Given the description of an element on the screen output the (x, y) to click on. 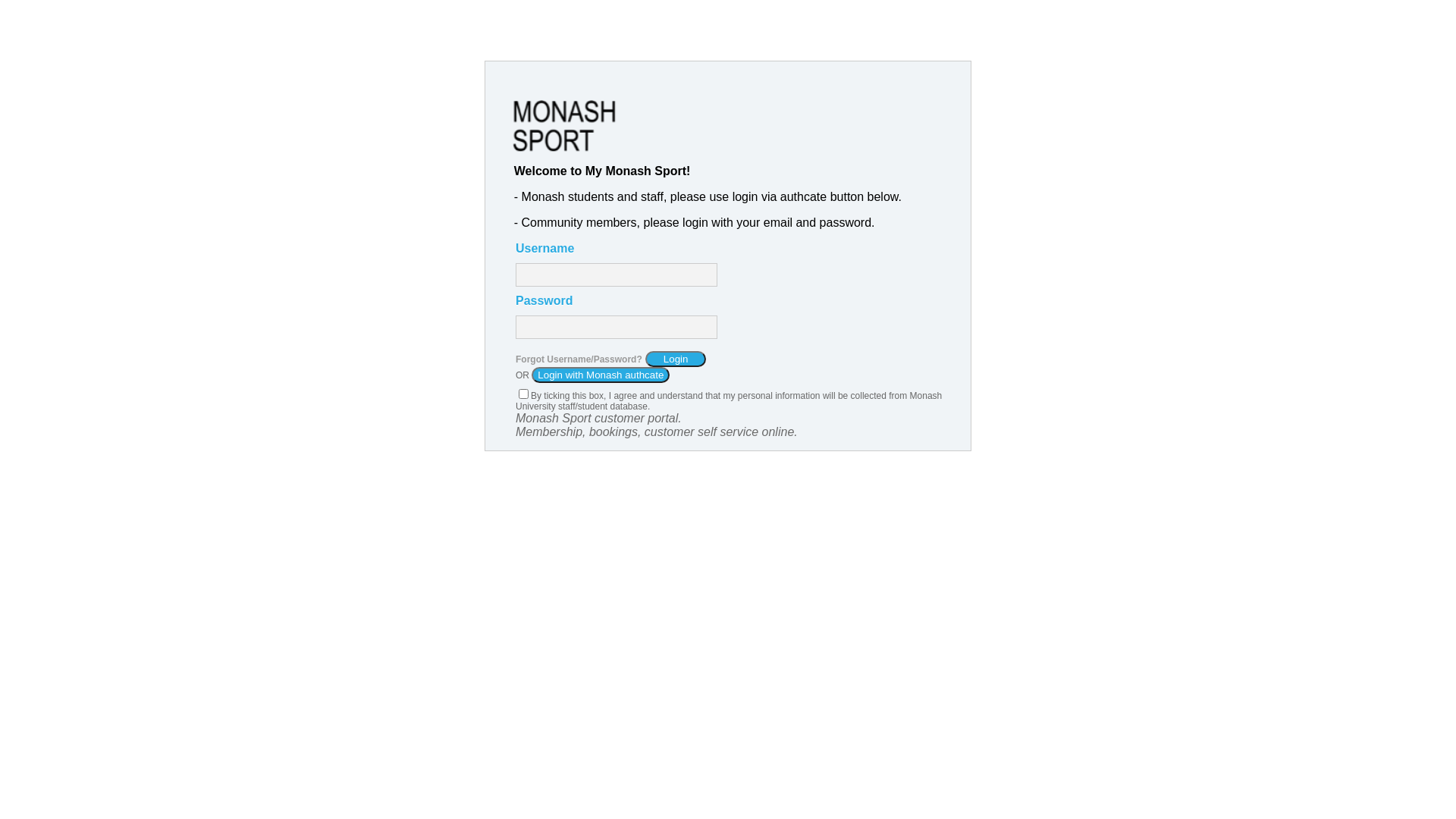
Forgot Username/Password? Element type: text (578, 359)
Login Element type: text (675, 359)
